Given the description of an element on the screen output the (x, y) to click on. 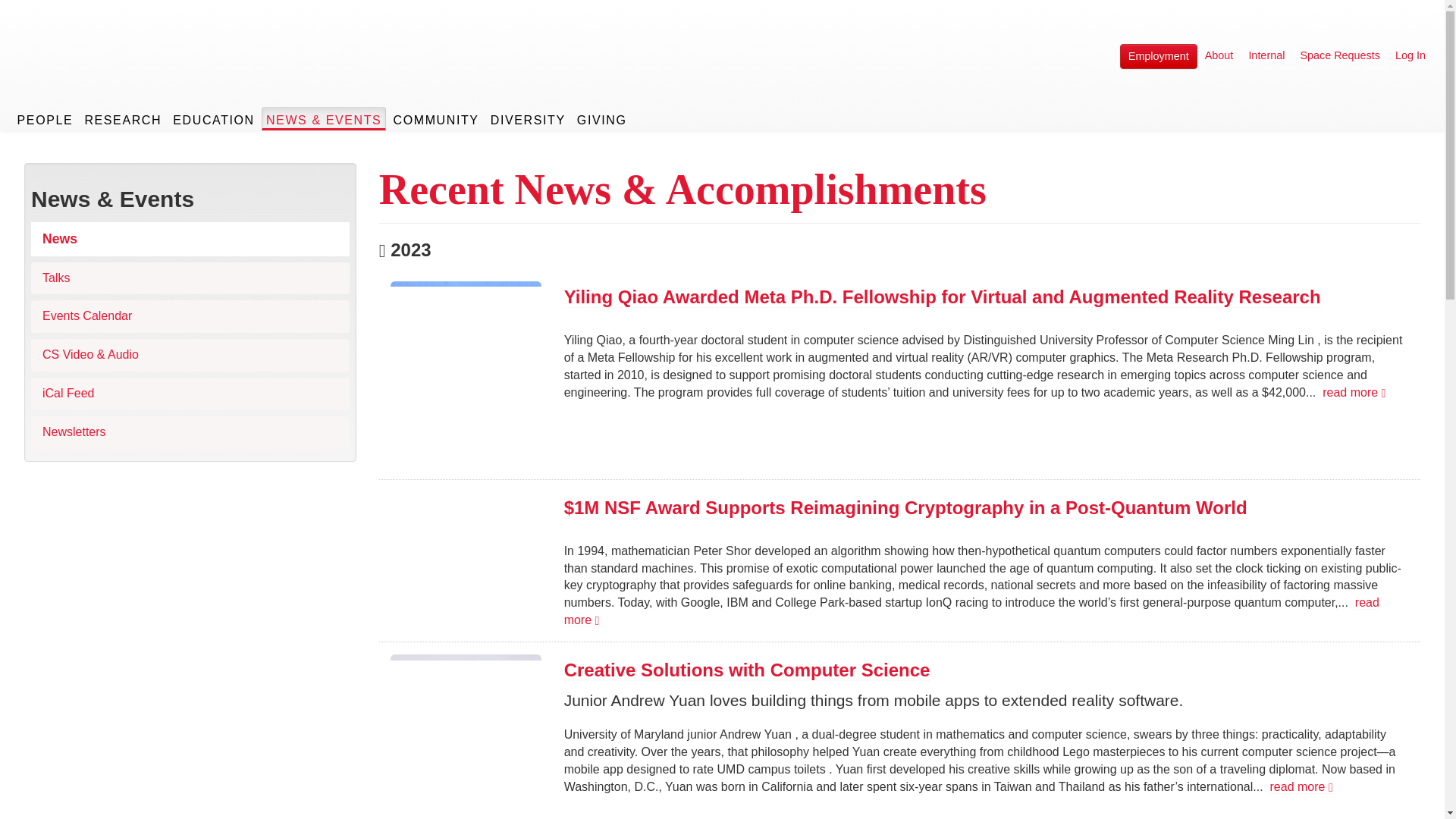
PEOPLE (45, 118)
RESEARCH (122, 118)
Home (136, 73)
COMMUNITY (435, 118)
UMD Department of Computer Science (136, 73)
Find Faculty, Staff and Students (45, 118)
EDUCATION (213, 118)
Community (435, 118)
